Given the description of an element on the screen output the (x, y) to click on. 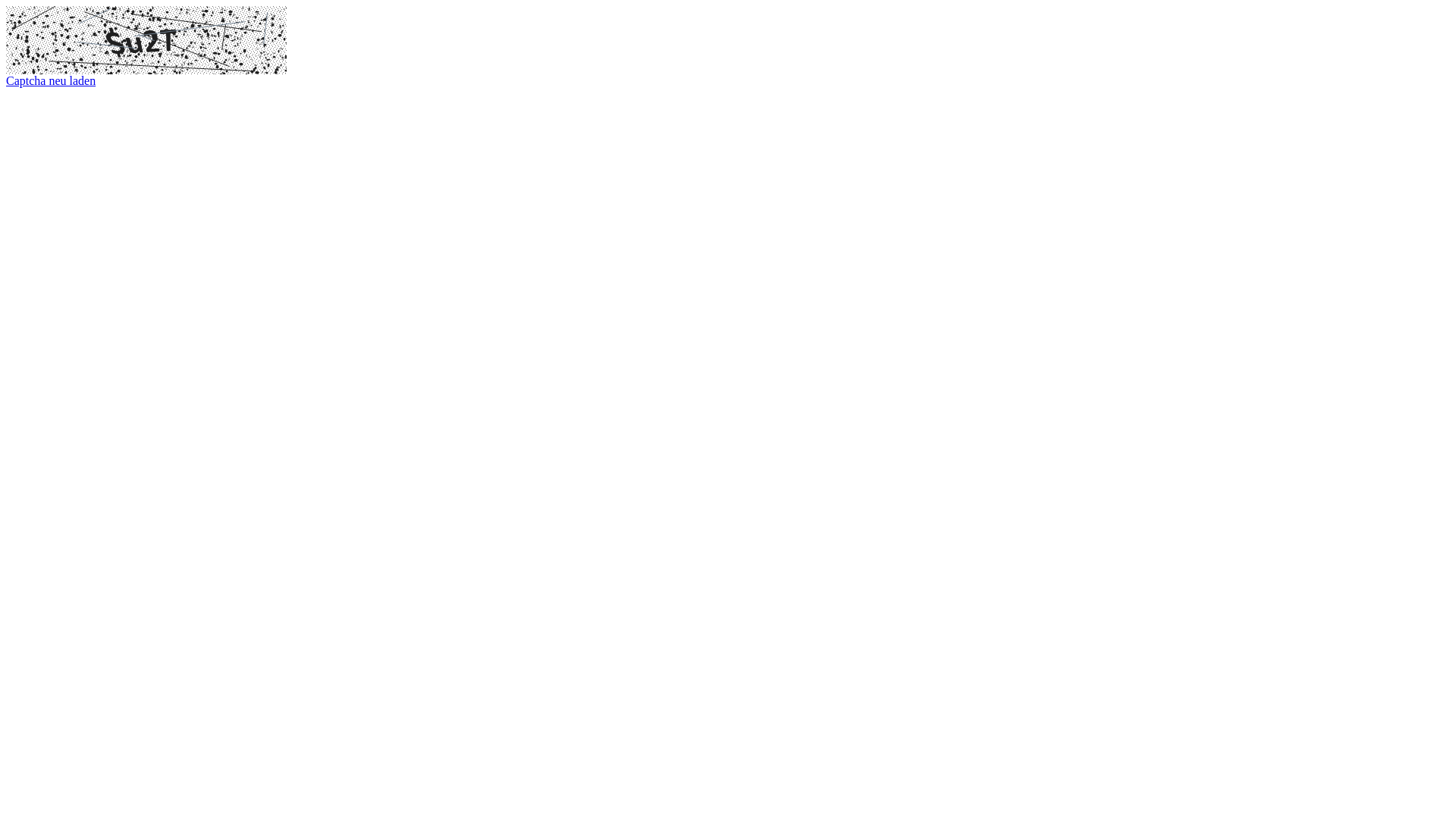
Captcha neu laden Element type: text (50, 80)
